Given the description of an element on the screen output the (x, y) to click on. 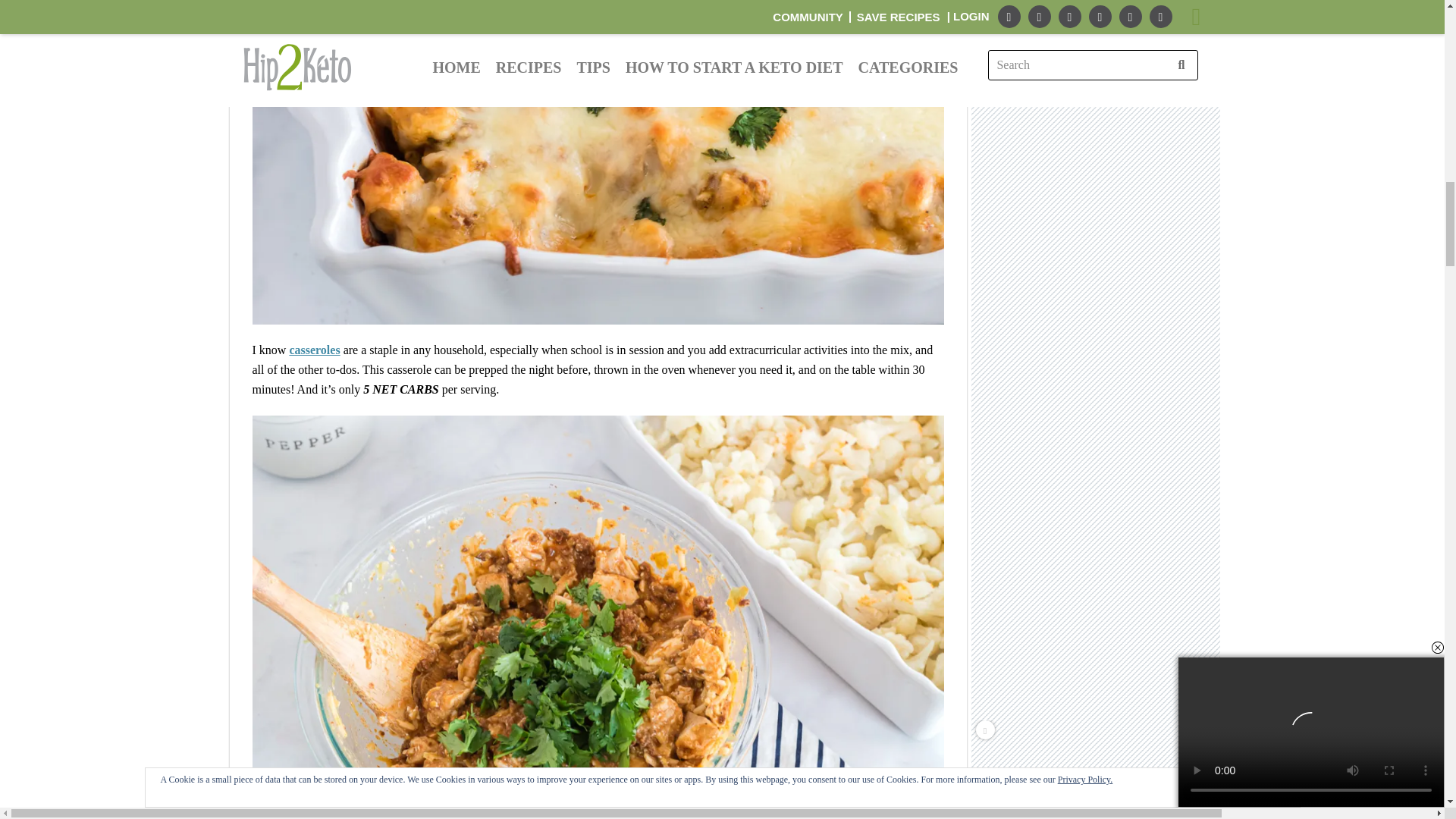
casseroles (313, 349)
